Given the description of an element on the screen output the (x, y) to click on. 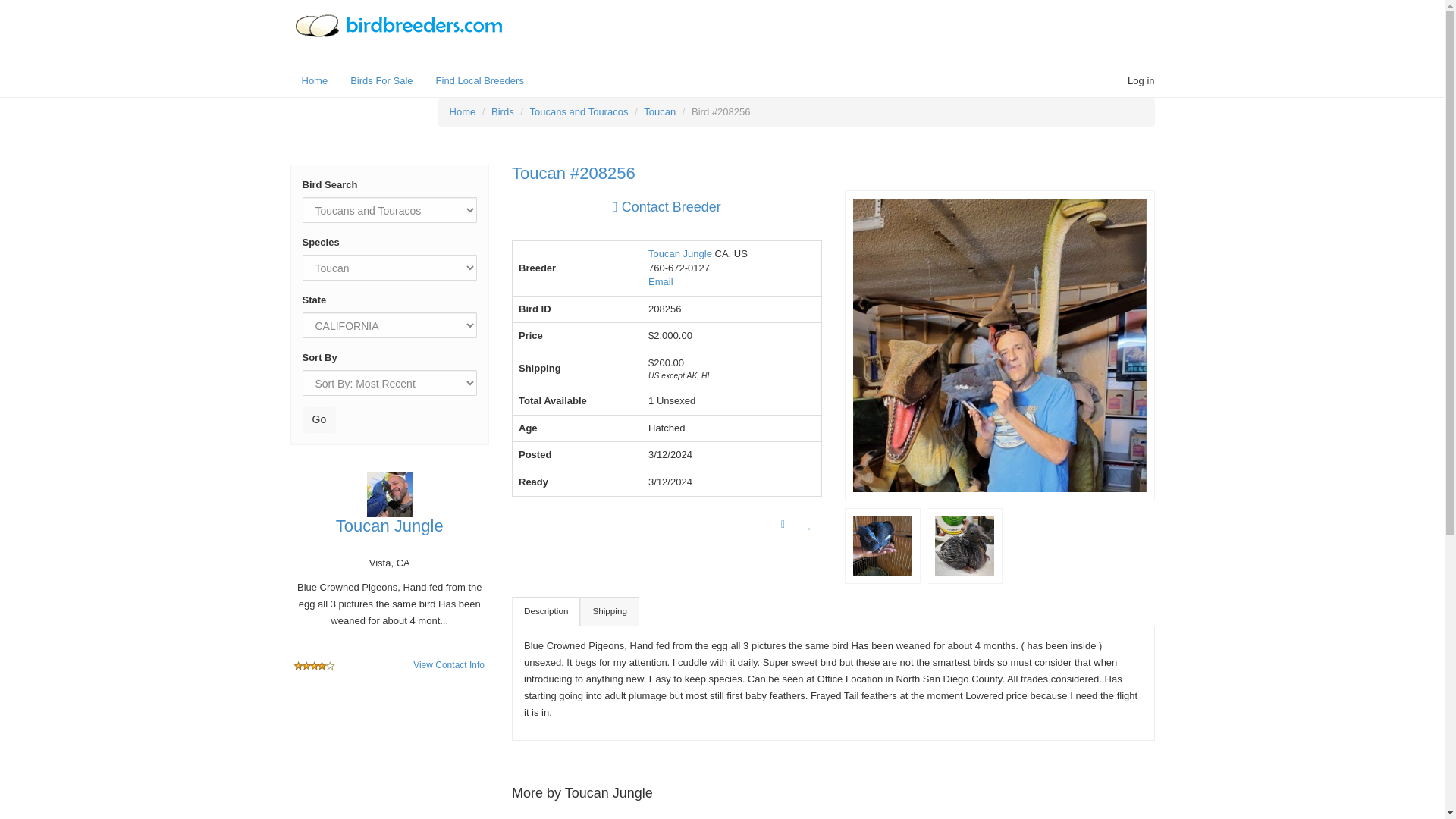
Home (314, 81)
Birds For Sale (381, 81)
Report Listing (782, 524)
Add To Favorites (809, 524)
